Given the description of an element on the screen output the (x, y) to click on. 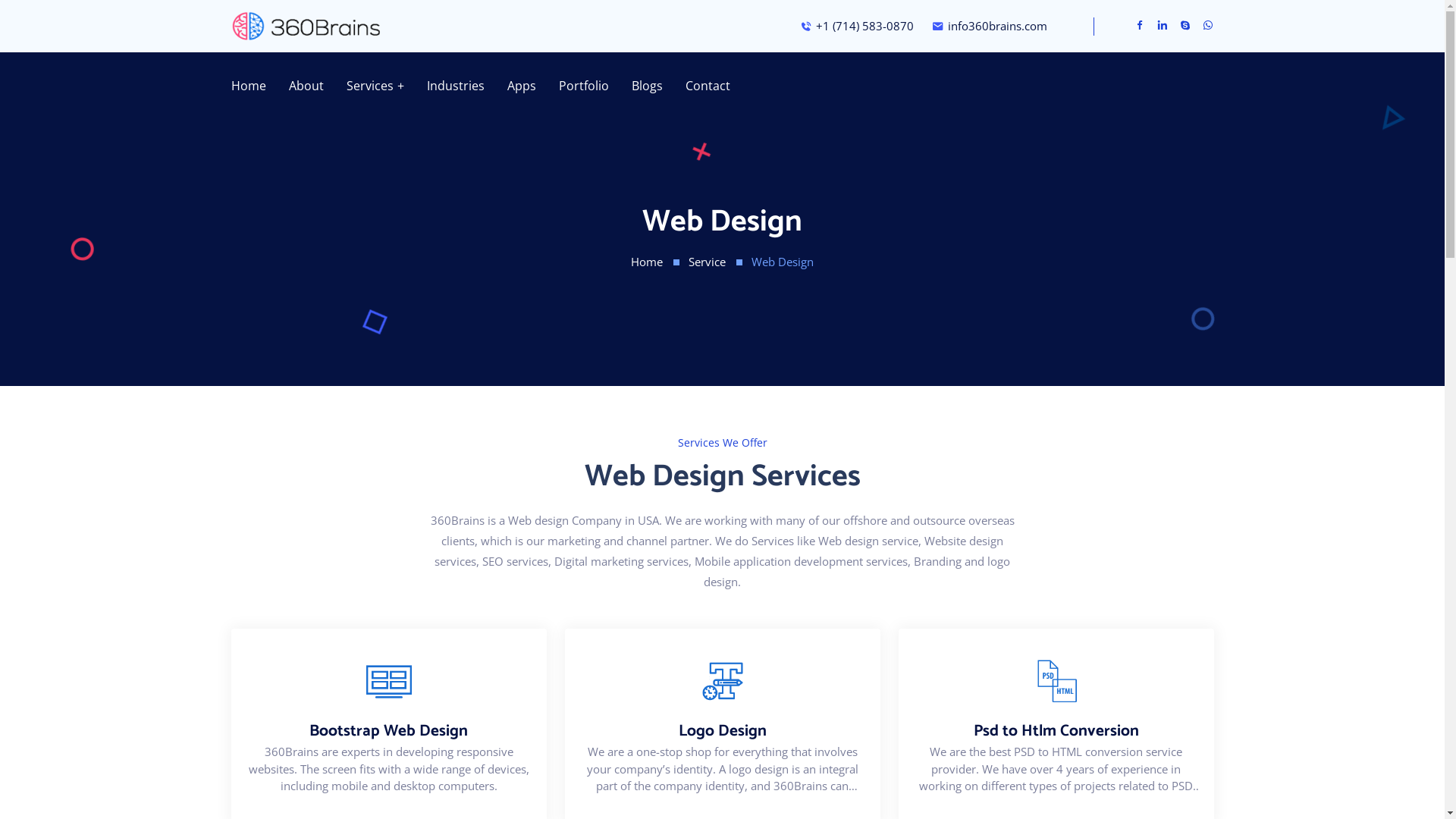
Blogs Element type: text (646, 86)
+1 (714) 583-0870 Element type: text (856, 25)
Contact Element type: text (707, 86)
Home Element type: text (646, 261)
info360brains.com Element type: text (988, 25)
Apps Element type: text (521, 86)
Services Element type: text (374, 86)
Industries Element type: text (455, 86)
Portfolio Element type: text (583, 86)
About Element type: text (305, 86)
Home Element type: text (247, 86)
